Given the description of an element on the screen output the (x, y) to click on. 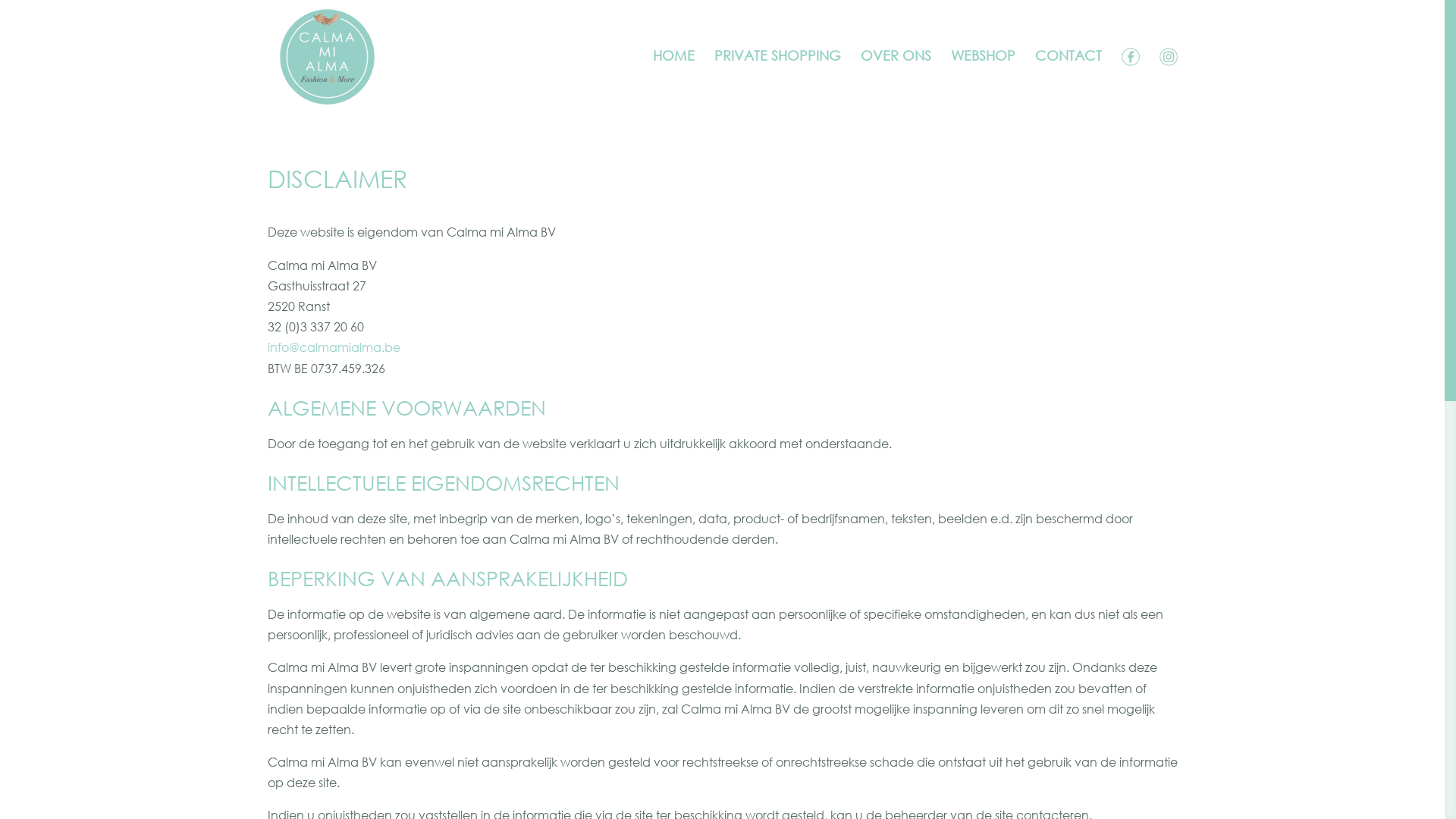
CONTACT Element type: text (1067, 79)
OVER ONS Element type: text (894, 79)
info@calmamialma.be Element type: text (332, 346)
HOME Element type: text (672, 79)
PRIVATE SHOPPING Element type: text (777, 79)
WEBSHOP Element type: text (982, 79)
